Given the description of an element on the screen output the (x, y) to click on. 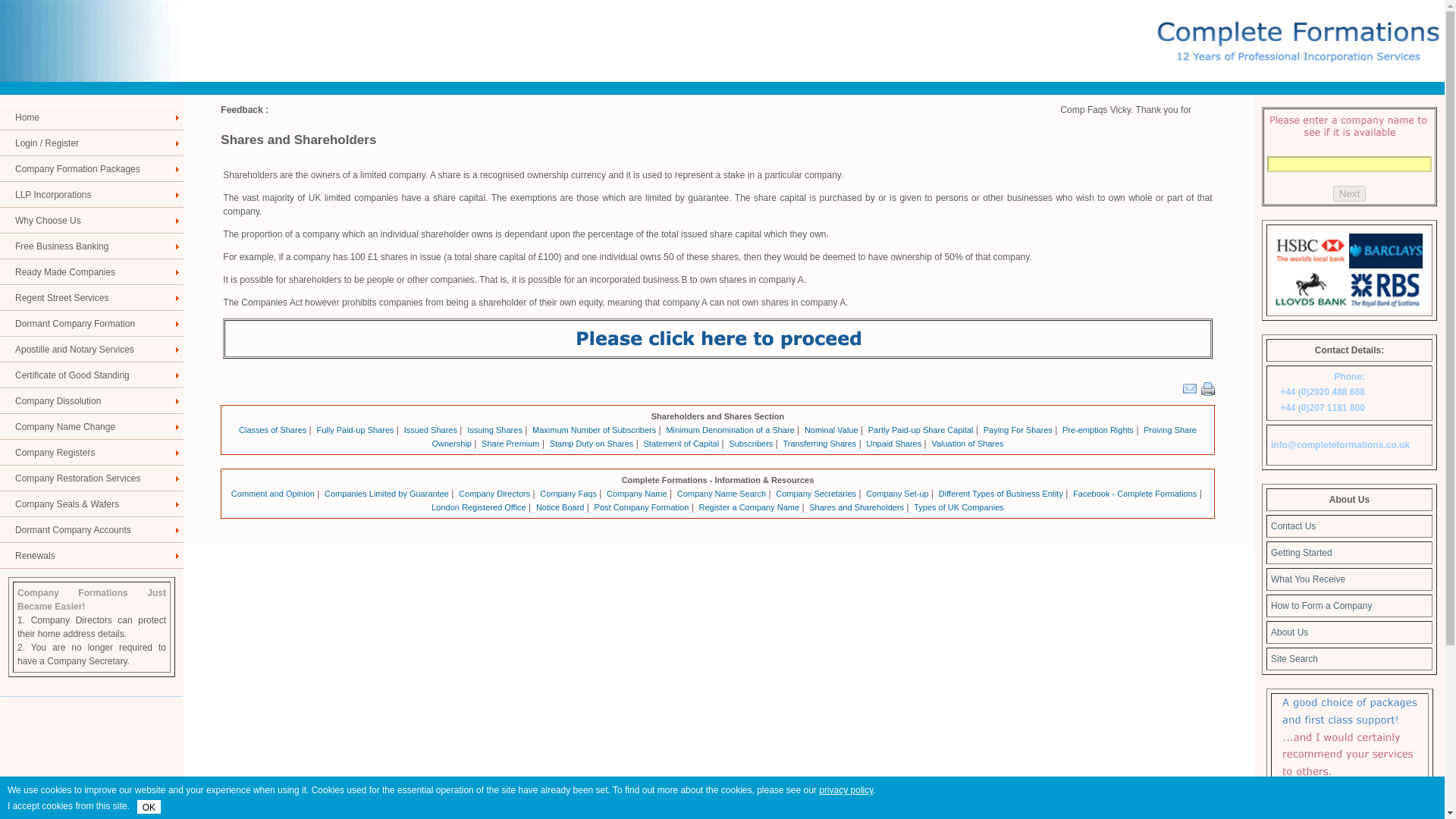
Classes of Shares (271, 429)
Company Formation Packages (91, 168)
Next (1349, 193)
View our privacy policy page (845, 789)
Subscribers (751, 442)
Company Restoration Services (91, 478)
Issuing Shares (494, 429)
Certificate of Good Standing (91, 375)
Stamp Duty on Shares (591, 442)
LLP Incorporations (91, 194)
Company Dissolution (91, 401)
Statement of Capital (681, 442)
Regent Street Services (91, 298)
Unpaid Shares (893, 442)
Transferring Shares (820, 442)
